Given the description of an element on the screen output the (x, y) to click on. 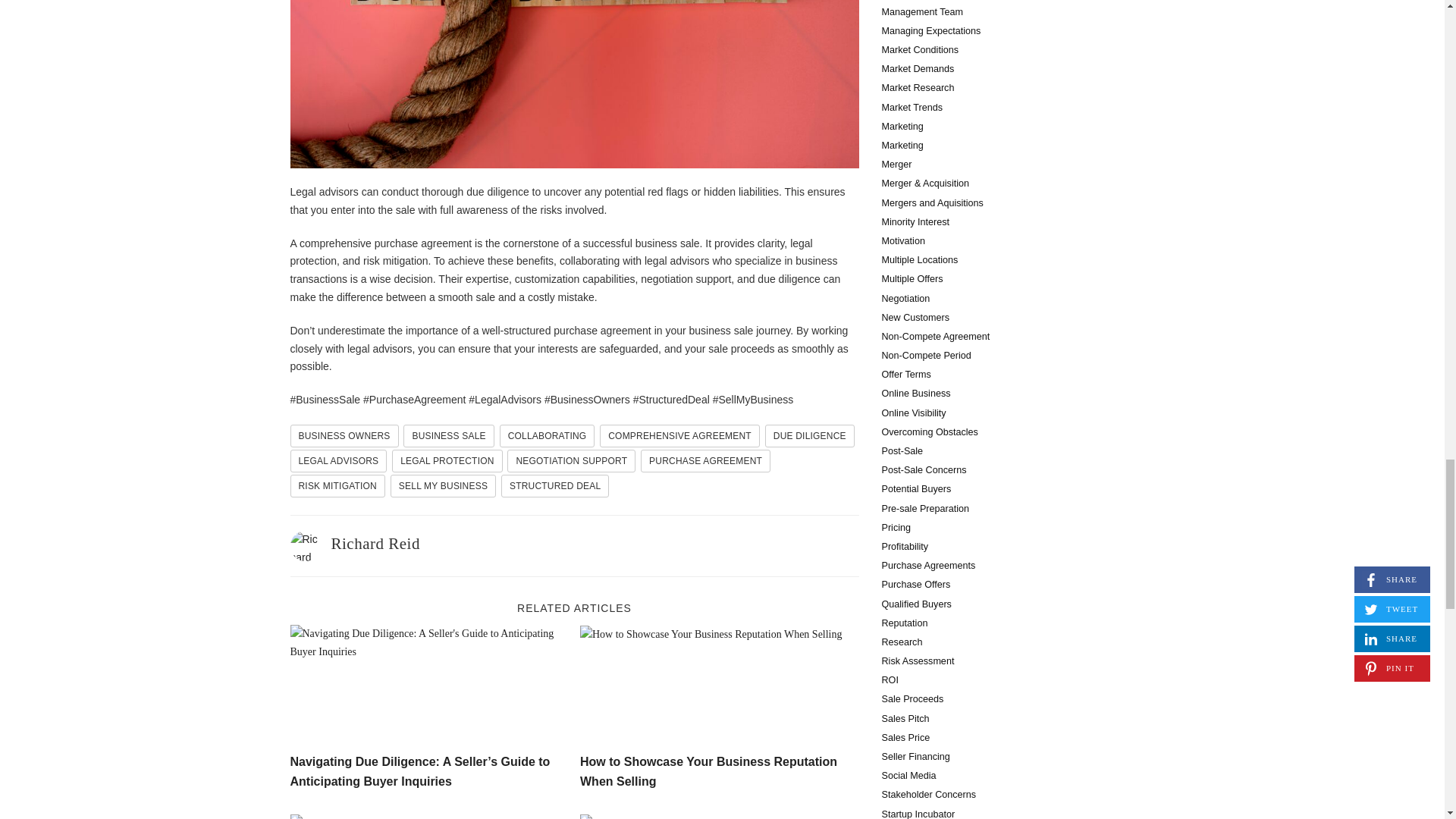
DUE DILIGENCE (809, 436)
business owners Tag (343, 436)
purchase agreement Tag (705, 460)
Seller Financing: An Expert Guide to Selling Your Business (429, 816)
NEGOTIATION SUPPORT (570, 460)
RISK MITIGATION (336, 486)
BUSINESS SALE (448, 436)
Negotiation Support Tag (570, 460)
PURCHASE AGREEMENT (705, 460)
How to Showcase Your Business Reputation When Selling (708, 771)
LEGAL ADVISORS (338, 460)
How to Showcase Your Business Reputation When Selling (719, 685)
STRUCTURED DEAL (554, 486)
Richard Reid (374, 543)
Collaborating Tag (547, 436)
